Given the description of an element on the screen output the (x, y) to click on. 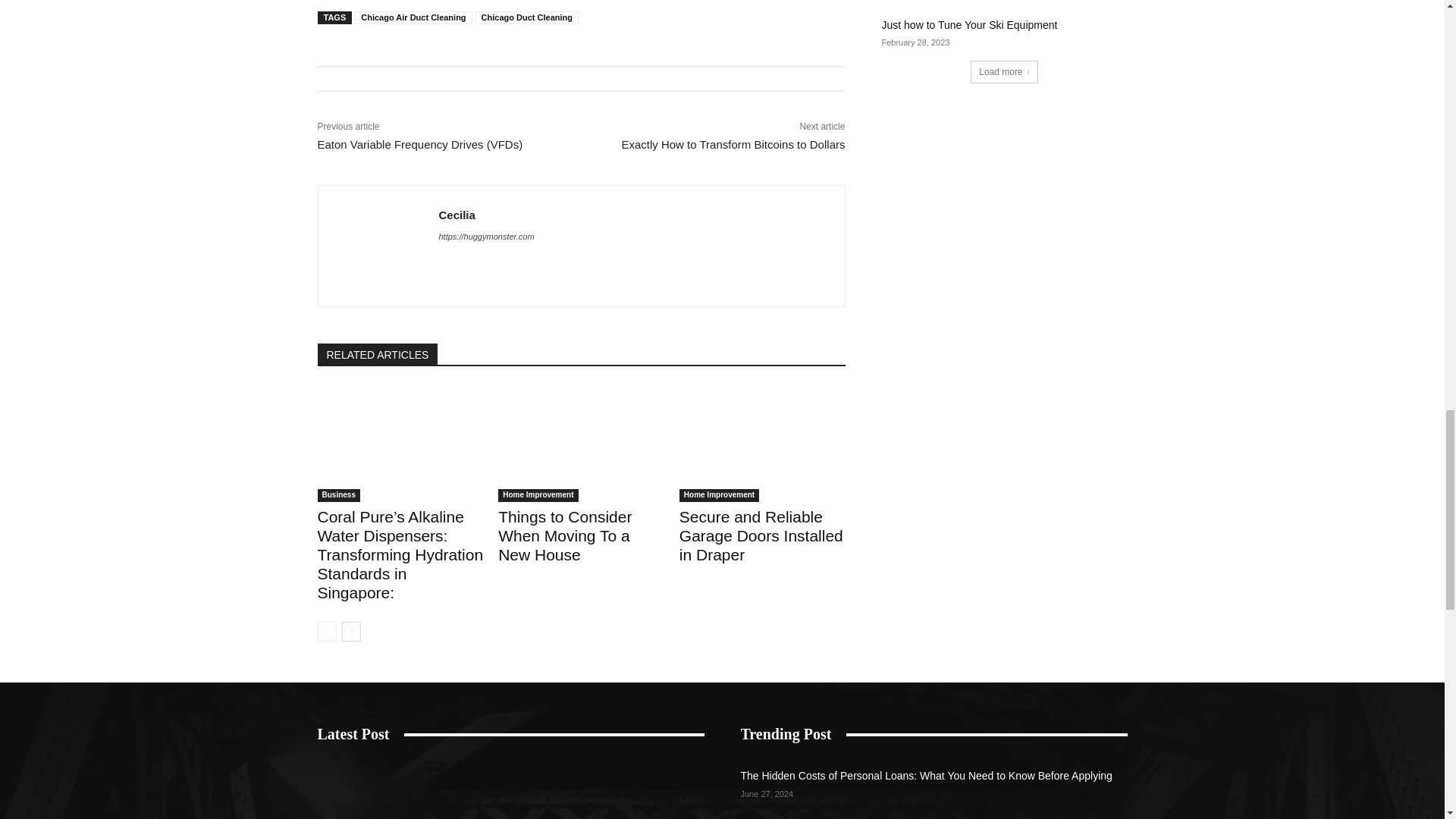
Business (338, 495)
Secure and Reliable Garage Doors Installed in Draper (761, 535)
Chicago Duct Cleaning (527, 17)
Chicago Air Duct Cleaning (413, 17)
Cecilia (377, 245)
Exactly How to Transform Bitcoins to Dollars (732, 144)
Things to Consider When Moving To a New House (564, 535)
Cecilia (486, 214)
Things to Consider When Moving To a New House (580, 443)
Secure and Reliable Garage Doors Installed in Draper (762, 443)
